Given the description of an element on the screen output the (x, y) to click on. 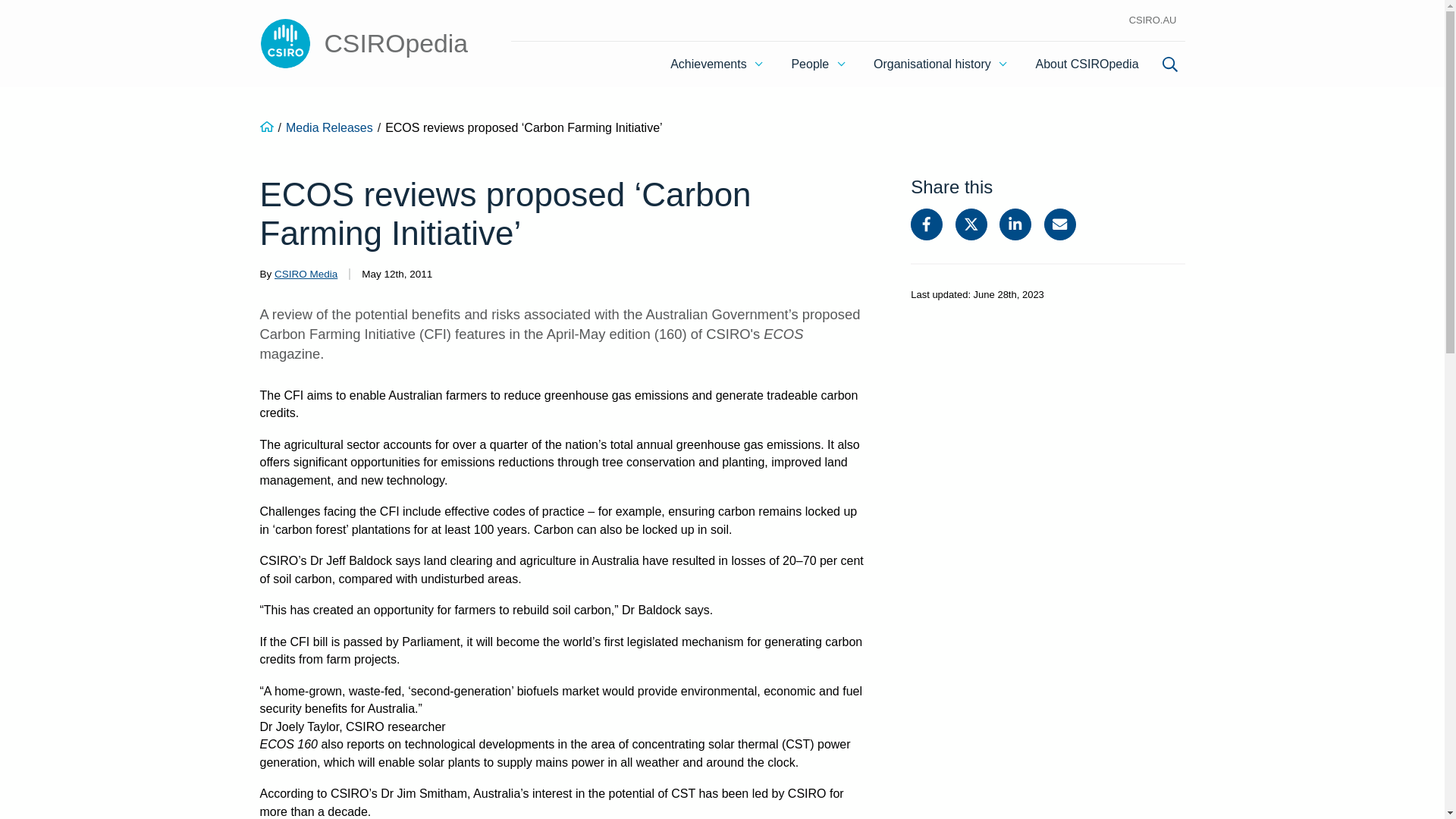
People (817, 64)
About CSIROpedia (1086, 64)
CSIROpedia (363, 43)
Posts by CSIRO Media (306, 274)
CSIRO.AU (1153, 20)
Organisational history (940, 64)
Achievements (716, 64)
